Given the description of an element on the screen output the (x, y) to click on. 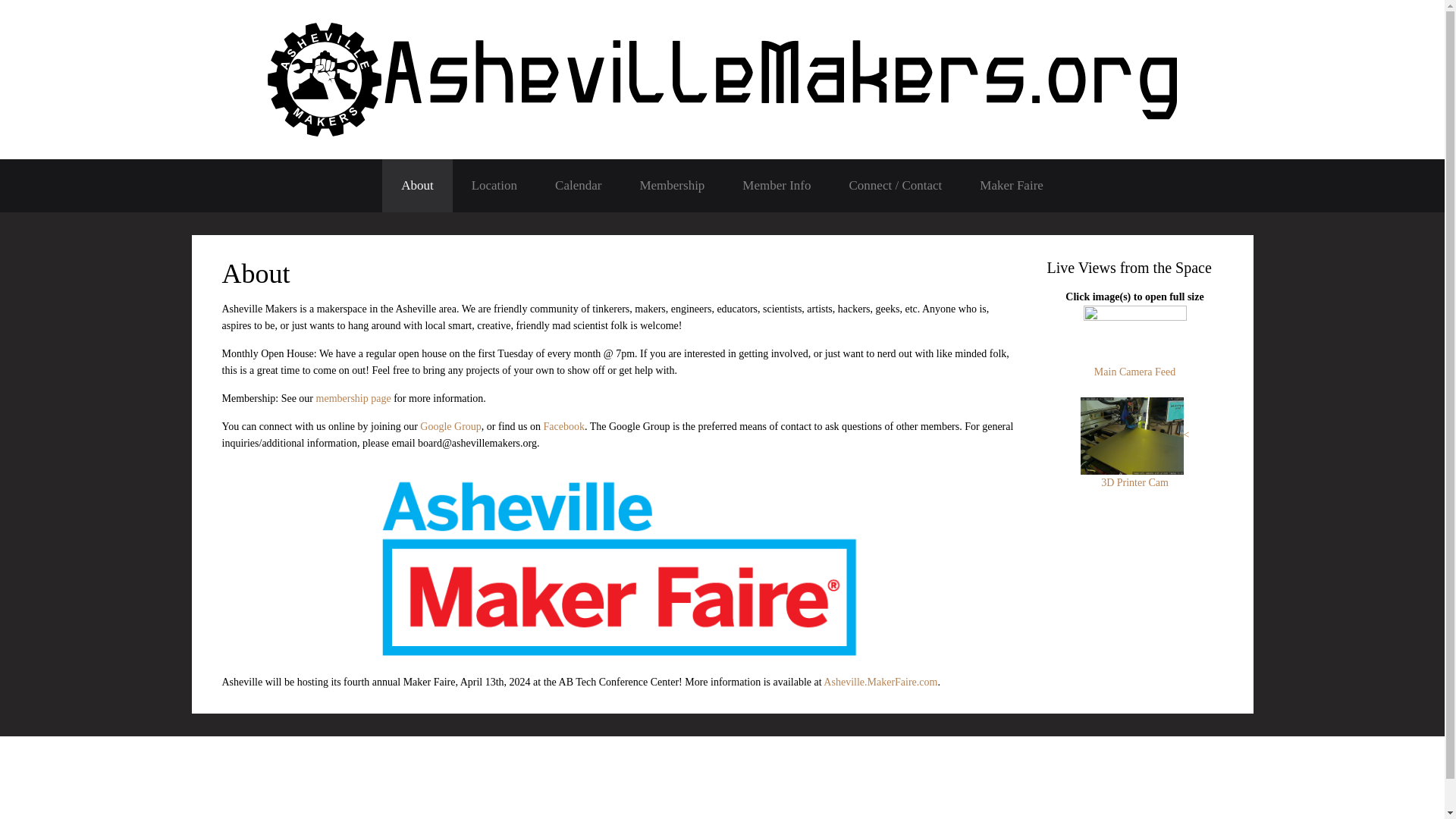
Member Info (776, 185)
membership page (353, 398)
Maker Faire (1011, 185)
Main Camera Feed (1134, 352)
Google Group (450, 426)
Membership (671, 185)
Location (493, 185)
Calendar (577, 185)
Facebook (564, 426)
Asheville.MakerFaire.com (880, 681)
